Given the description of an element on the screen output the (x, y) to click on. 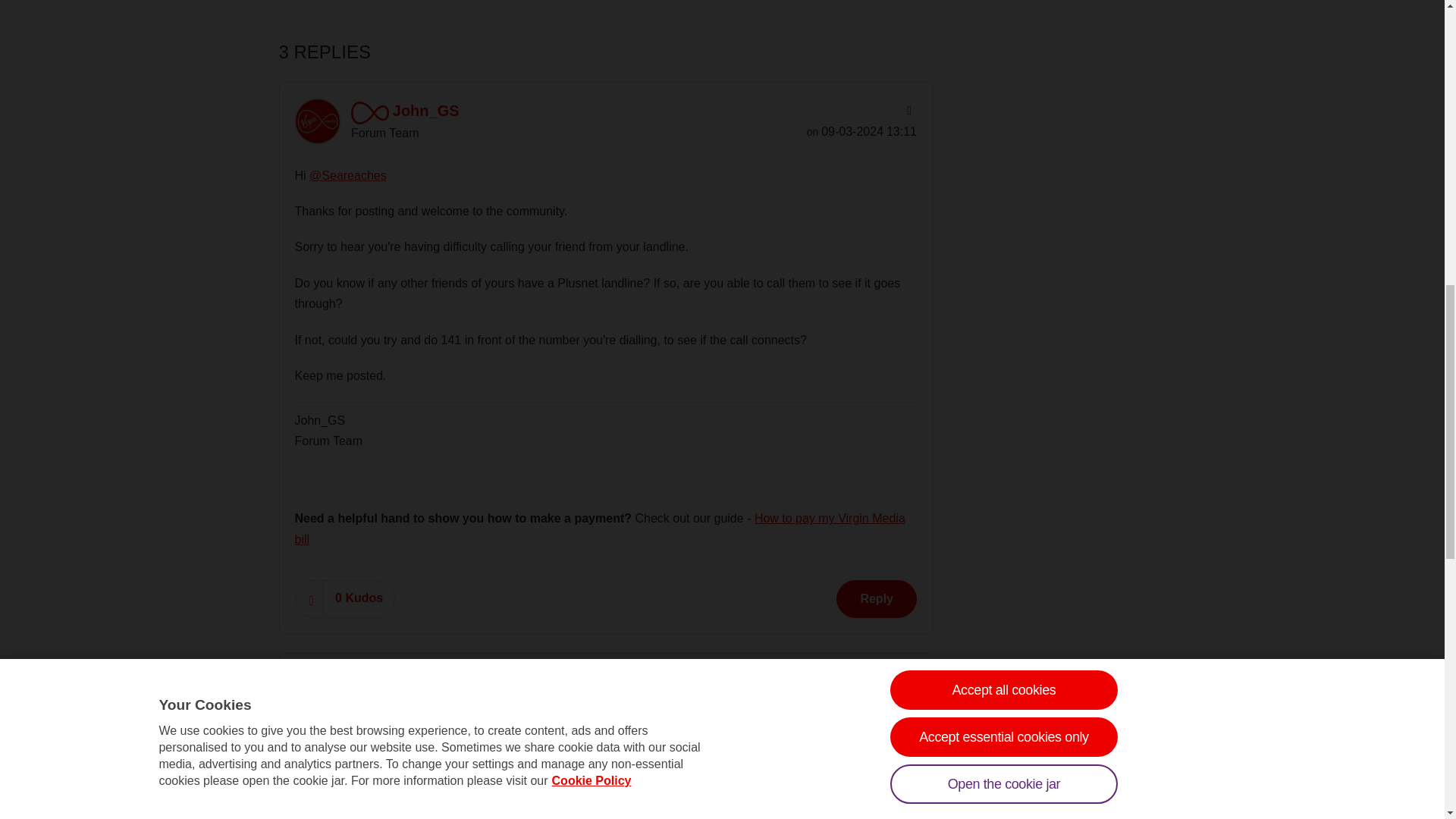
The total number of kudos this post has received. (358, 597)
Show option menu (907, 110)
Seareaches (316, 692)
Forum Team (369, 112)
Click here to give kudos to this post. (309, 598)
